Given the description of an element on the screen output the (x, y) to click on. 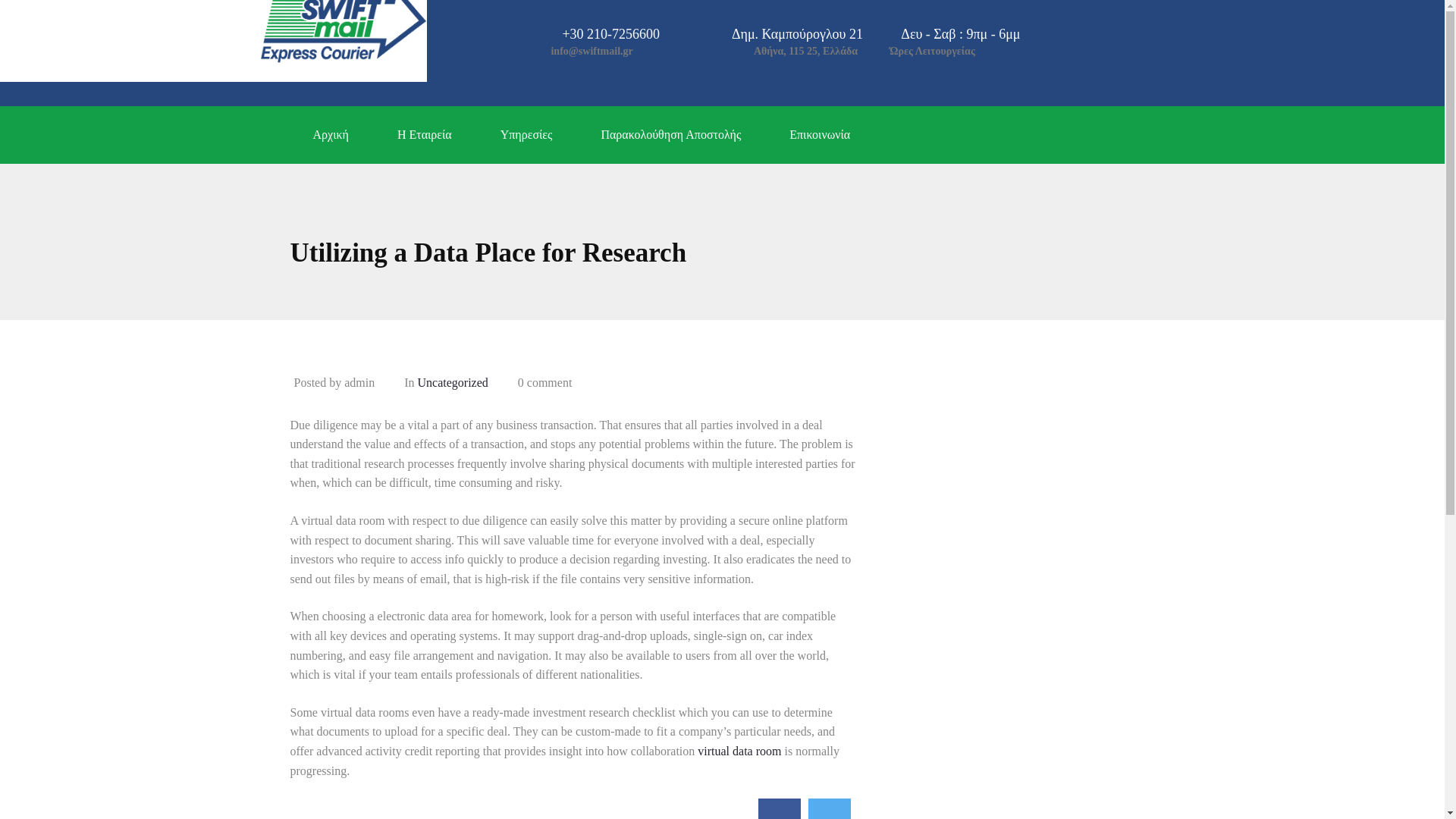
Uncategorized (451, 382)
virtual data room (738, 750)
Search (37, 17)
